Given the description of an element on the screen output the (x, y) to click on. 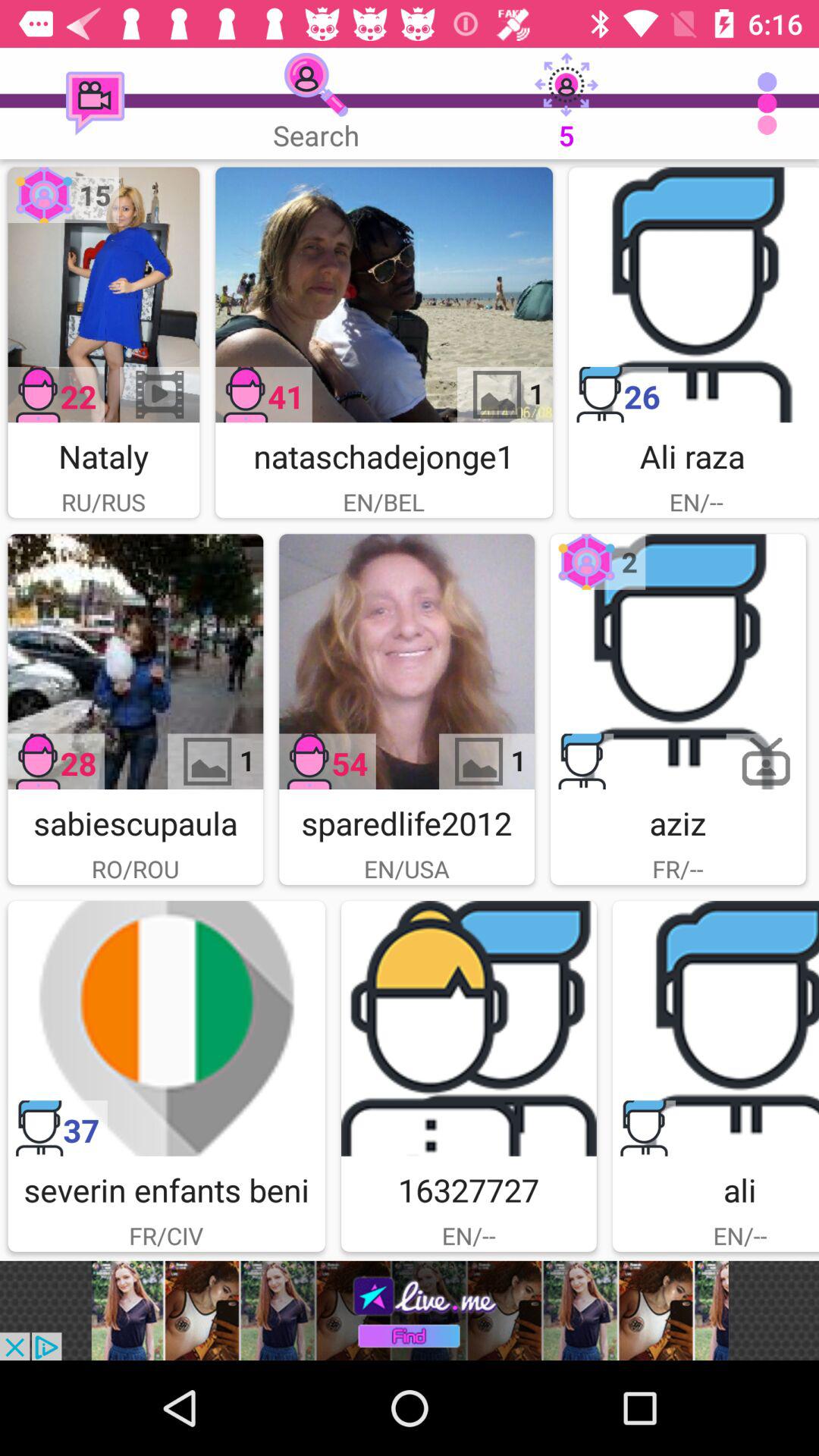
video click (135, 661)
